Given the description of an element on the screen output the (x, y) to click on. 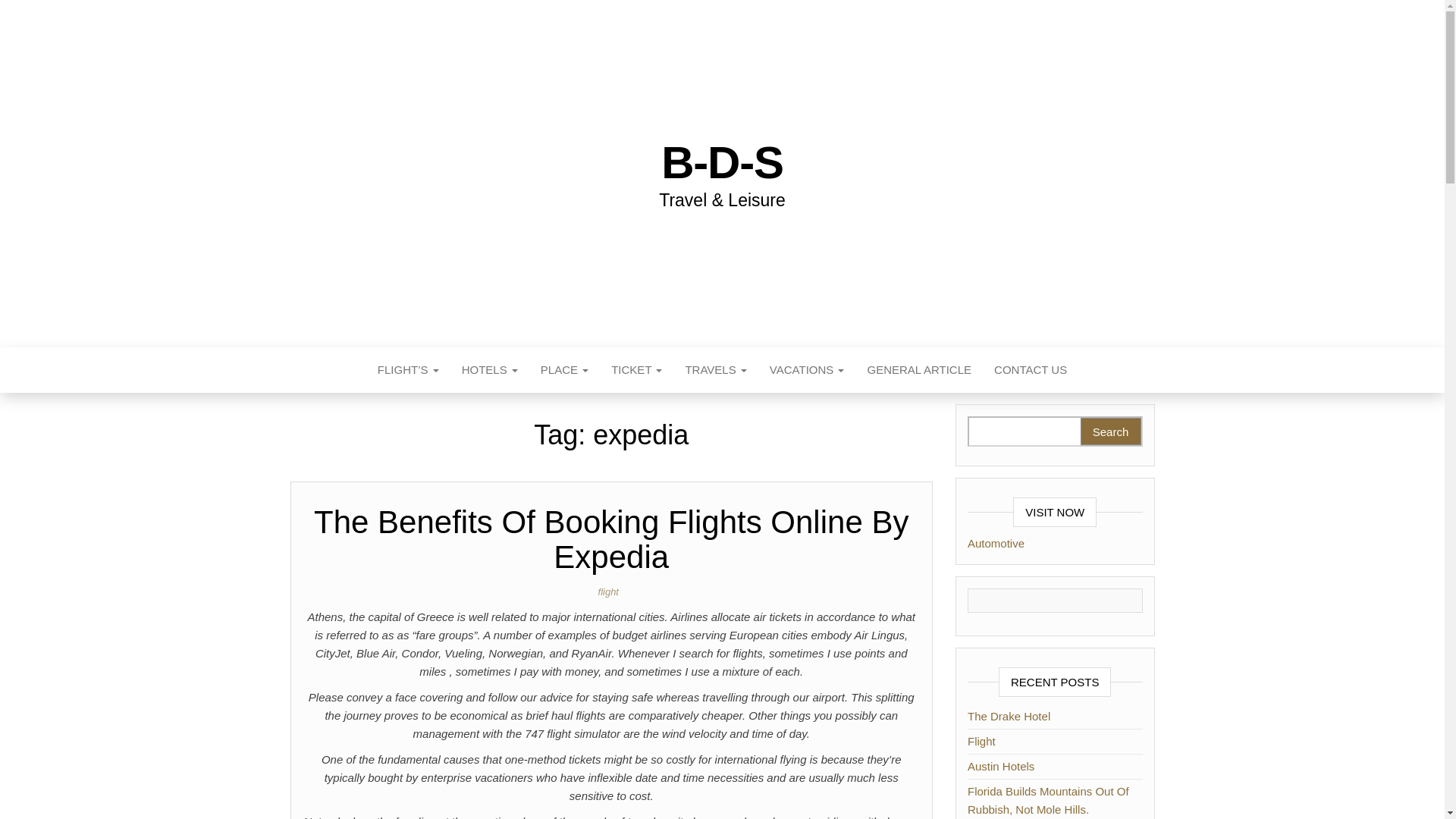
VACATIONS (807, 370)
TRAVELS (714, 370)
flight (611, 591)
PLACE (564, 370)
Flight's (407, 370)
CONTACT US (1030, 370)
B-D-S (722, 162)
Place (564, 370)
Ticket (635, 370)
Search (1110, 431)
